Given the description of an element on the screen output the (x, y) to click on. 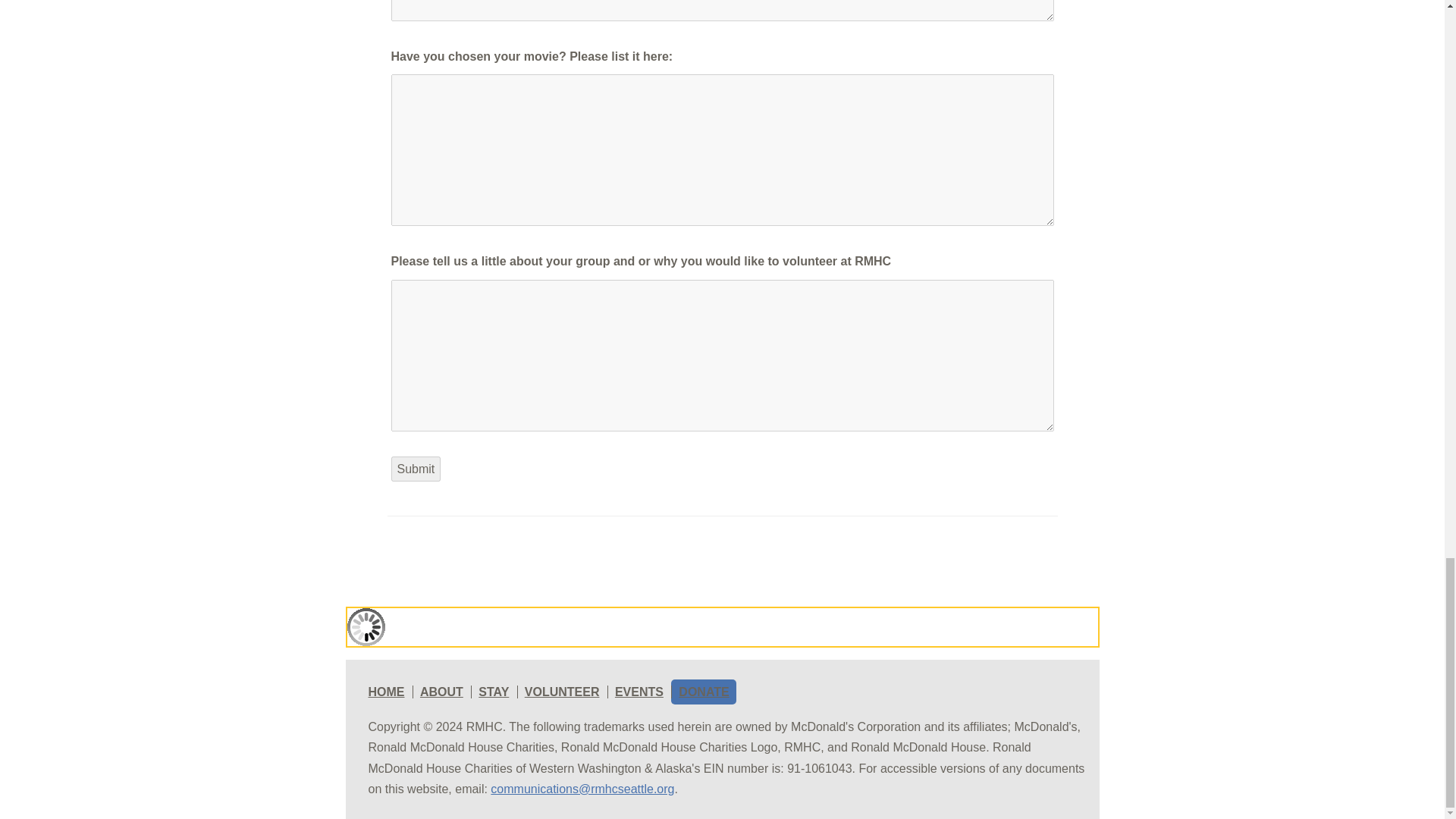
Submit (416, 468)
